Given the description of an element on the screen output the (x, y) to click on. 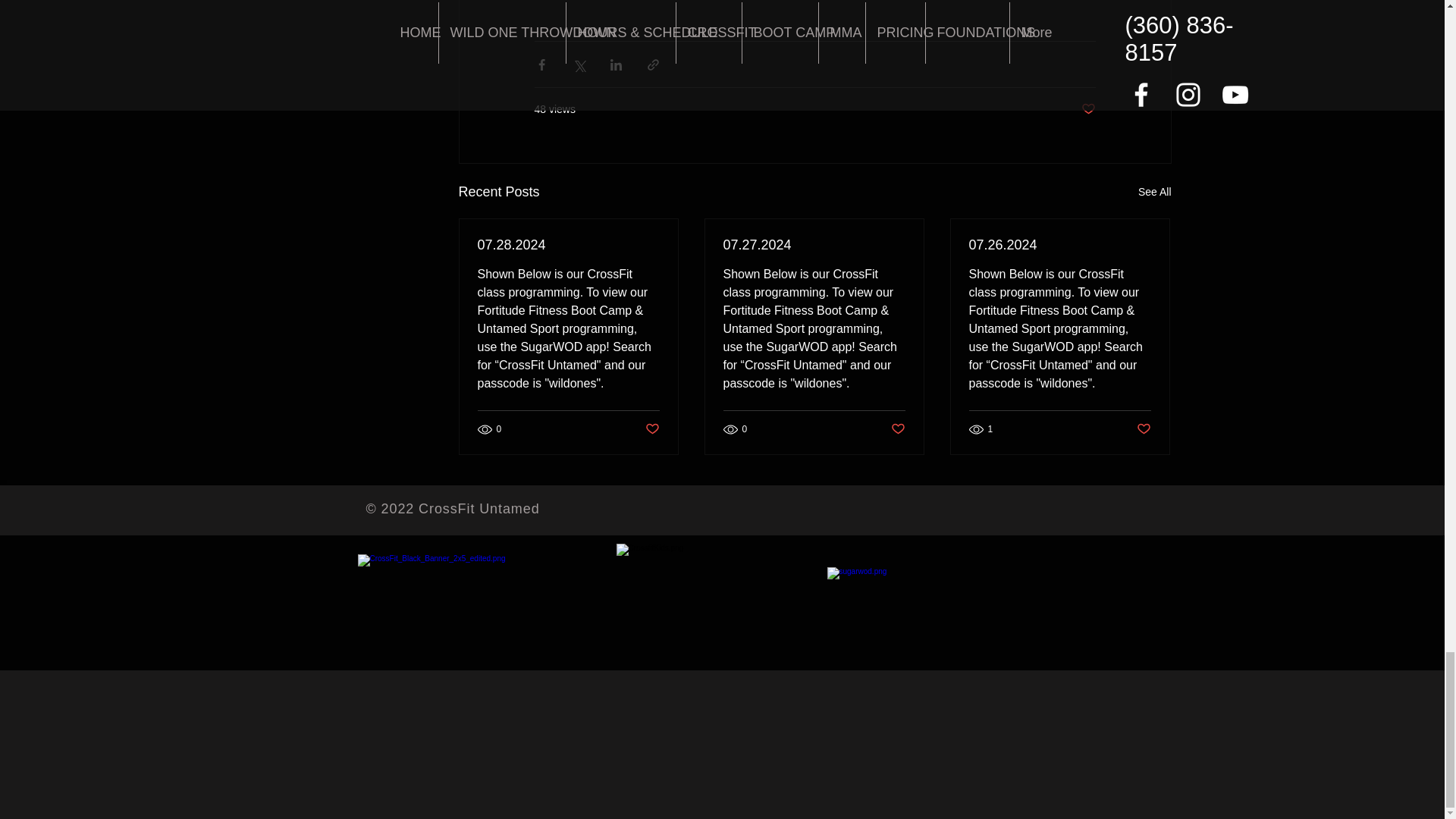
07.28.2024 (568, 245)
07.27.2024 (814, 245)
See All (1155, 191)
Post not marked as liked (652, 429)
Post not marked as liked (896, 429)
Post not marked as liked (1142, 429)
Post not marked as liked (1088, 109)
07.26.2024 (1060, 245)
